Given the description of an element on the screen output the (x, y) to click on. 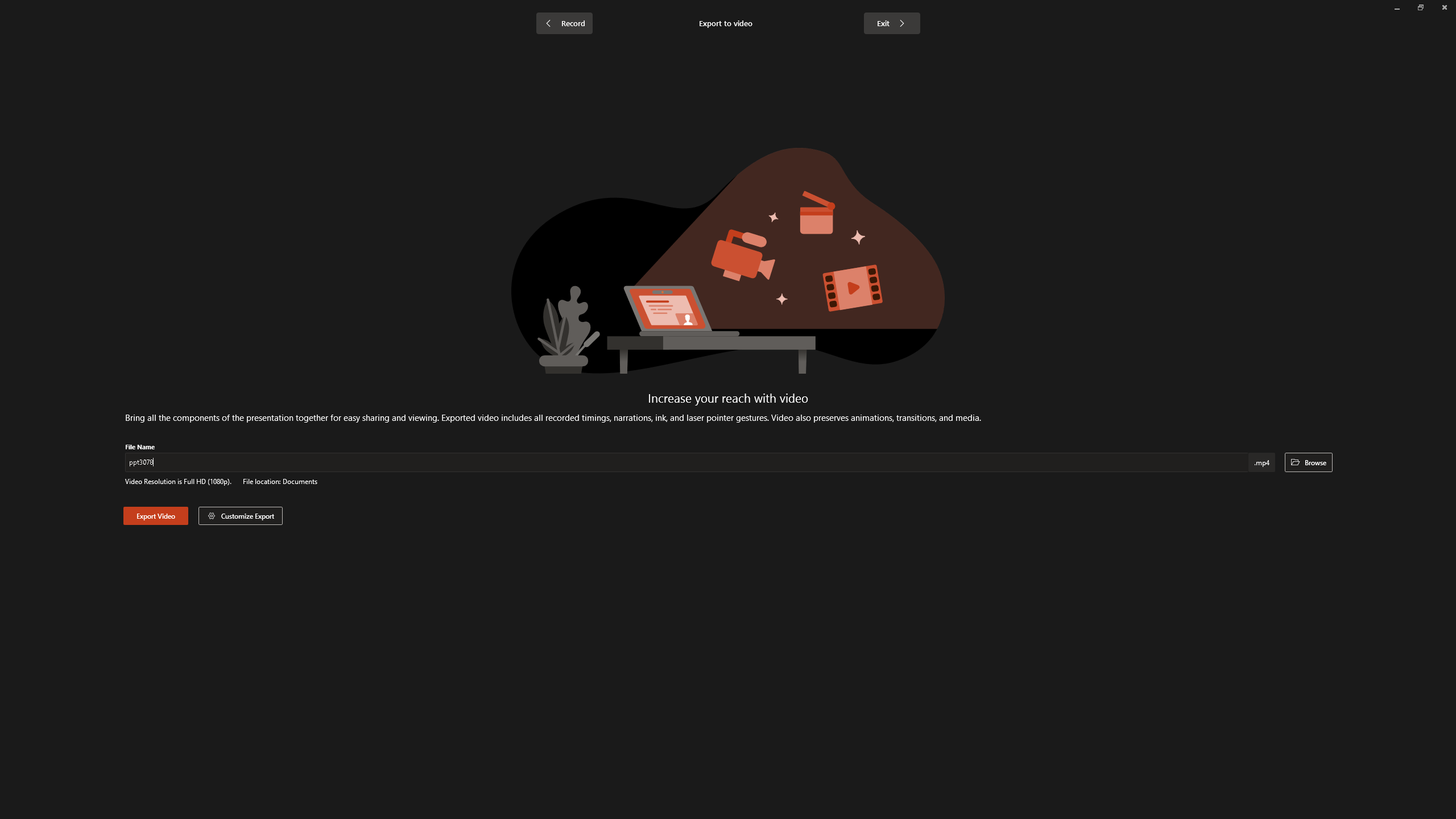
Picture Format (475, 28)
Export to Video (332, 58)
Clear Recording (234, 58)
